Given the description of an element on the screen output the (x, y) to click on. 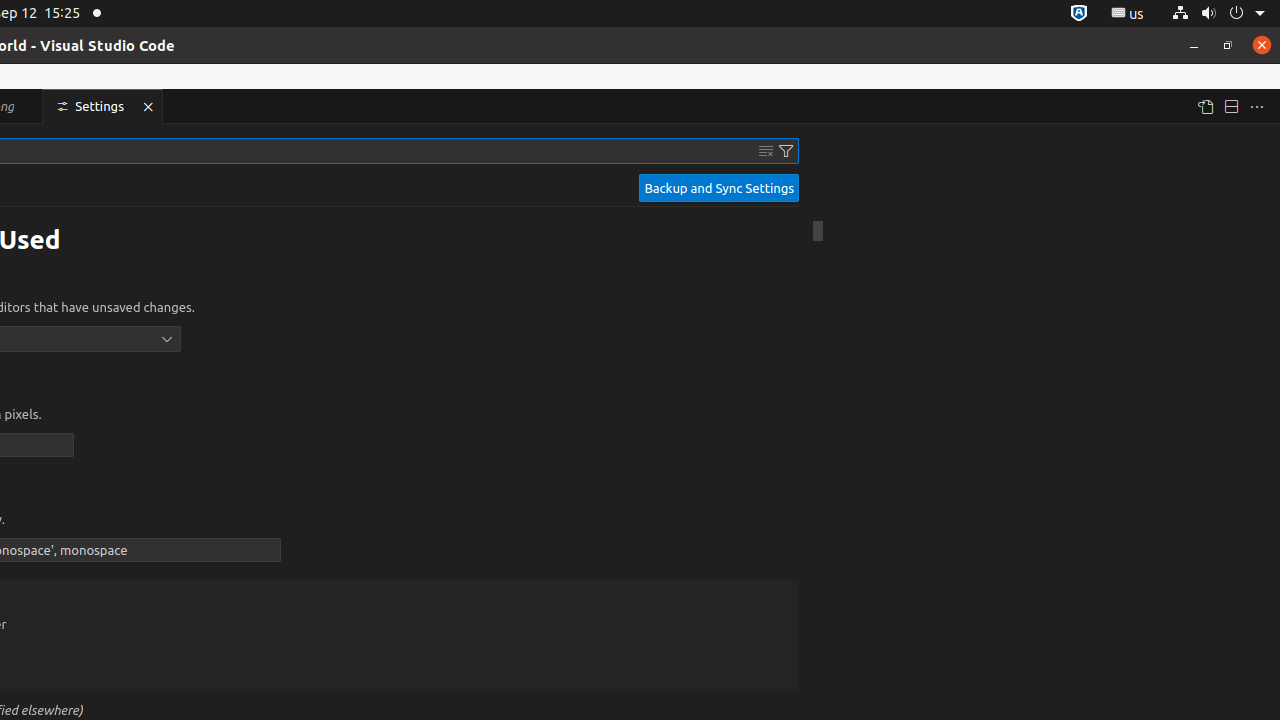
Settings Element type: page-tab (103, 106)
